Given the description of an element on the screen output the (x, y) to click on. 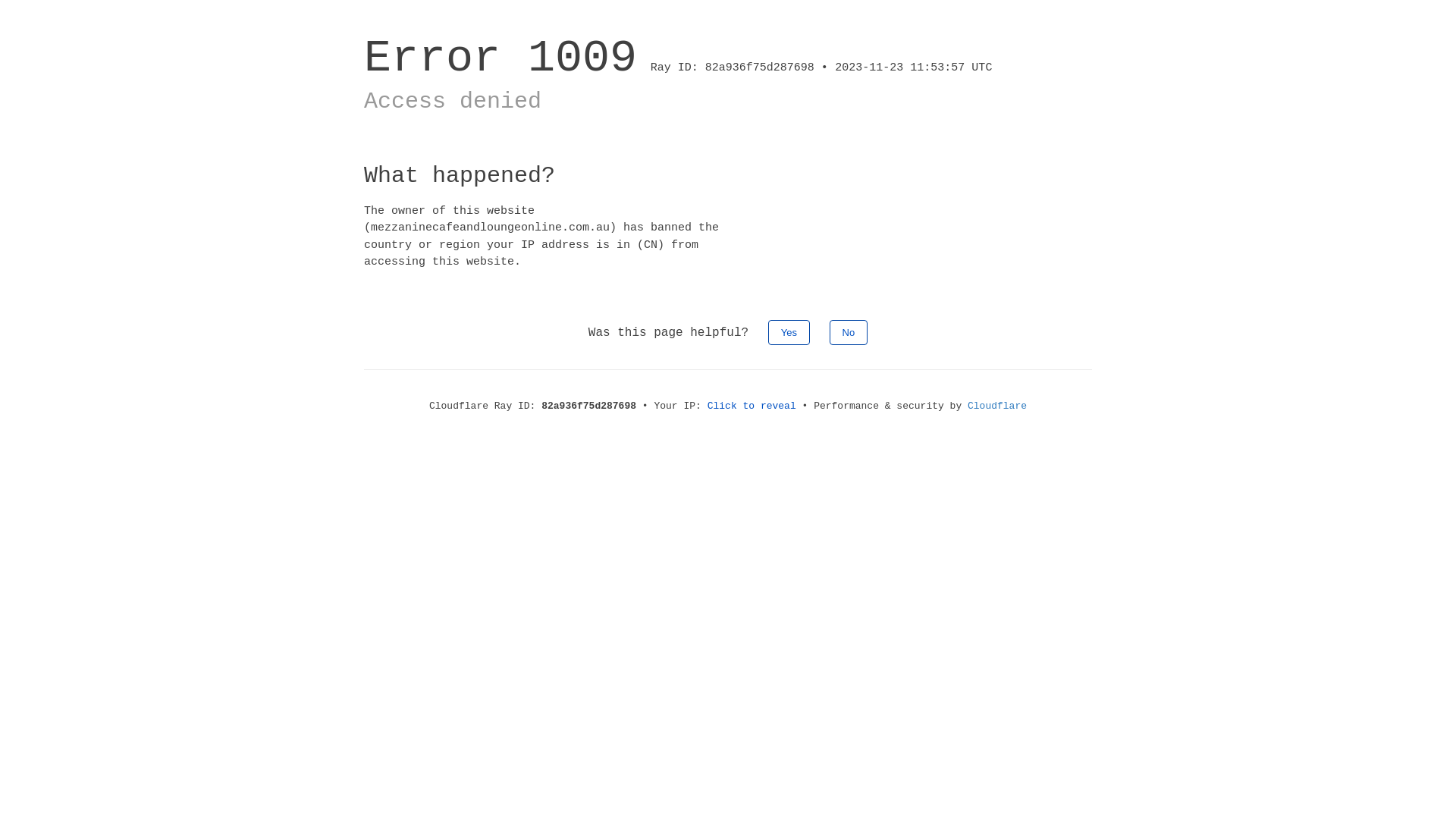
No Element type: text (848, 332)
Yes Element type: text (788, 332)
Click to reveal Element type: text (751, 405)
Cloudflare Element type: text (996, 405)
